Given the description of an element on the screen output the (x, y) to click on. 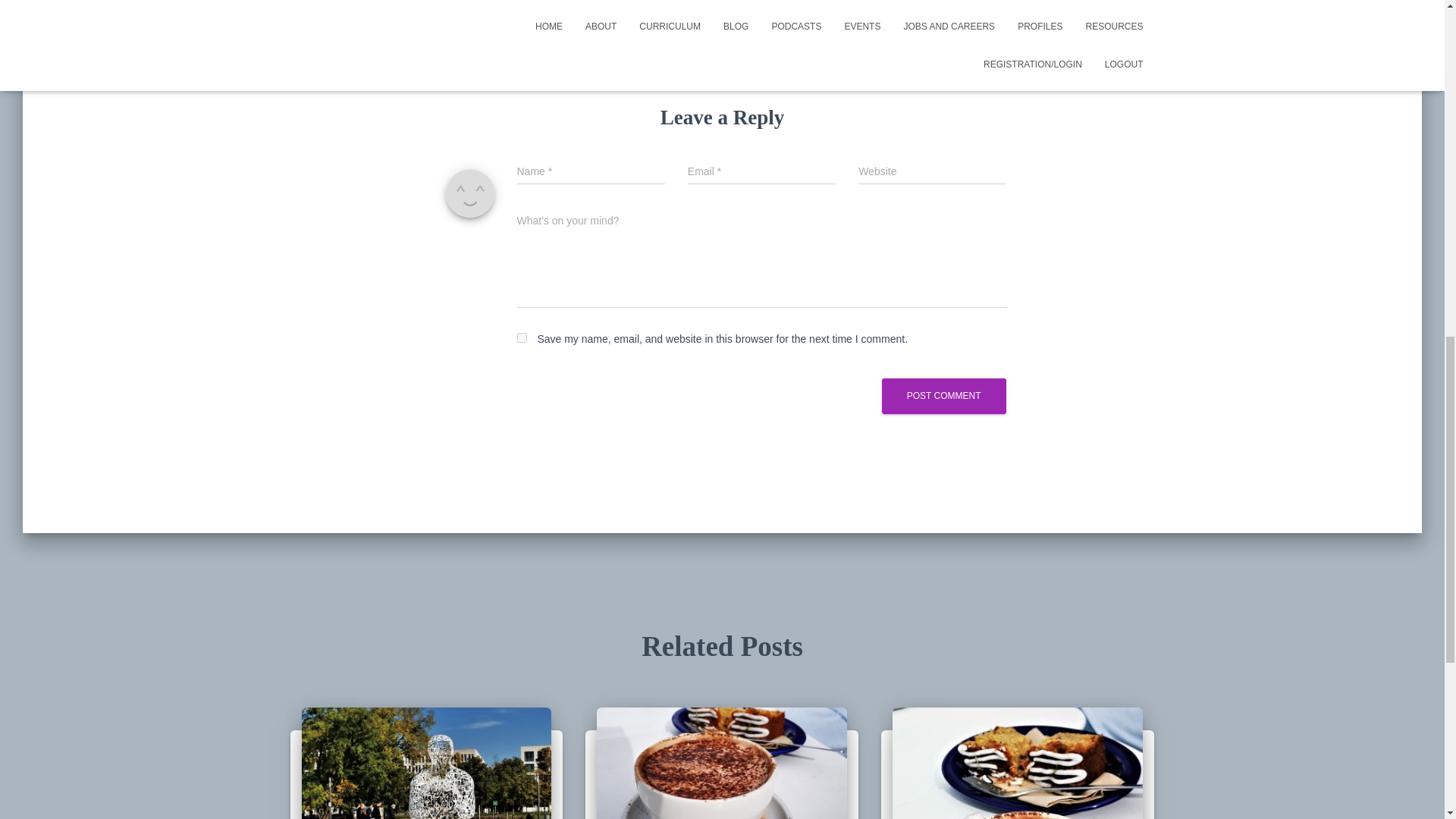
Anti-violence advocacy and sociology (426, 788)
Post Comment (944, 396)
Post Comment (944, 396)
yes (521, 337)
